Given the description of an element on the screen output the (x, y) to click on. 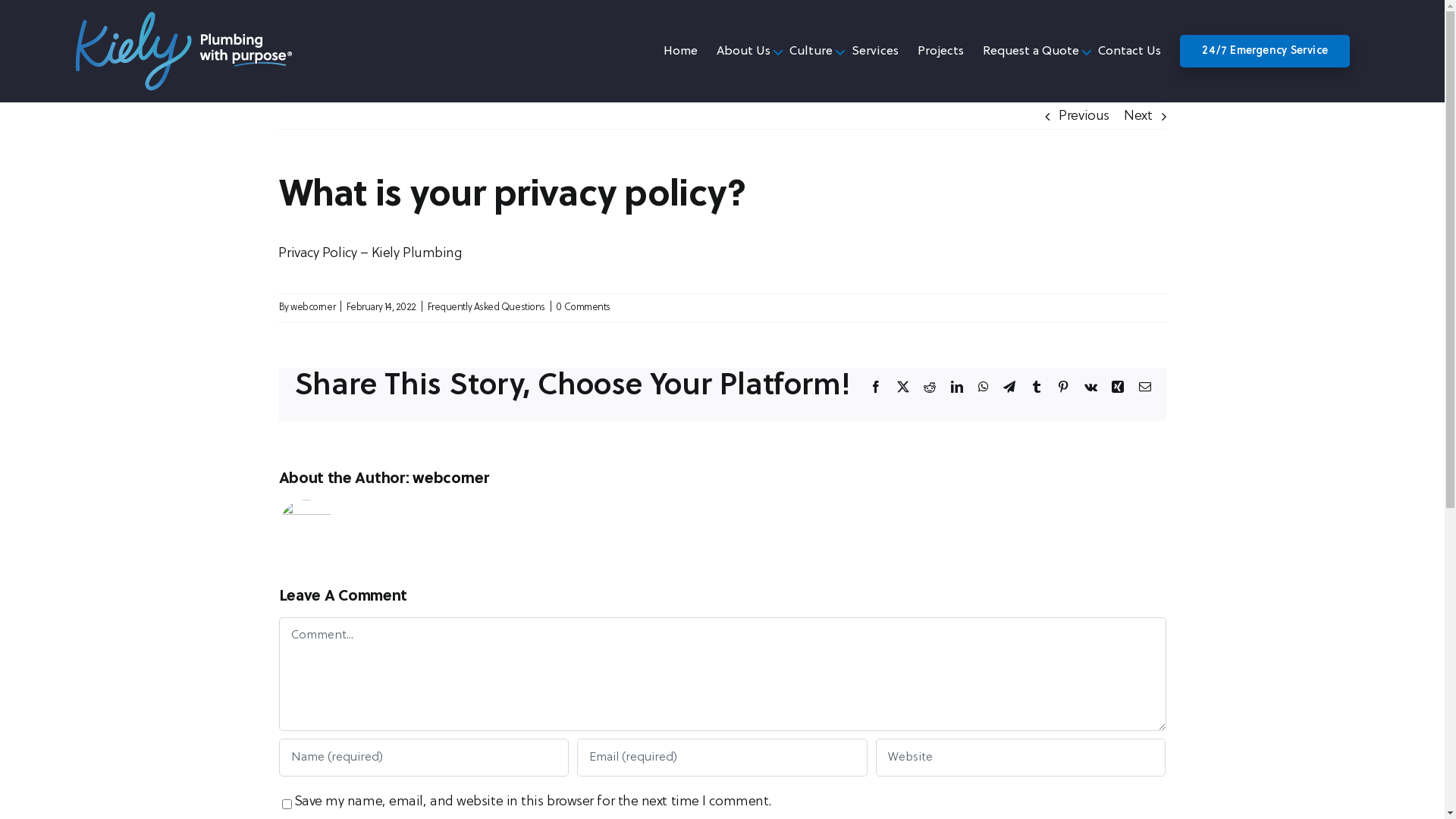
Projects Element type: text (940, 51)
Vk Element type: text (1090, 386)
Request a Quote Element type: text (1030, 51)
Xing Element type: text (1117, 386)
Previous Element type: text (1083, 115)
Culture Element type: text (810, 51)
Frequently Asked Questions Element type: text (486, 307)
Services Element type: text (874, 51)
Pinterest Element type: text (1063, 386)
About Us Element type: text (743, 51)
WhatsApp Element type: text (983, 386)
Next Element type: text (1137, 115)
24/7 Emergency Service Element type: text (1264, 51)
webcorner Element type: text (312, 307)
Email Element type: text (1145, 386)
Reddit Element type: text (929, 386)
webcorner Element type: text (450, 478)
Home Element type: text (680, 51)
LinkedIn Element type: text (956, 386)
Contact Us Element type: text (1129, 51)
Facebook Element type: text (875, 386)
Twitter Element type: text (903, 386)
Telegram Element type: text (1009, 386)
0 Comments Element type: text (582, 307)
Tumblr Element type: text (1036, 386)
